Given the description of an element on the screen output the (x, y) to click on. 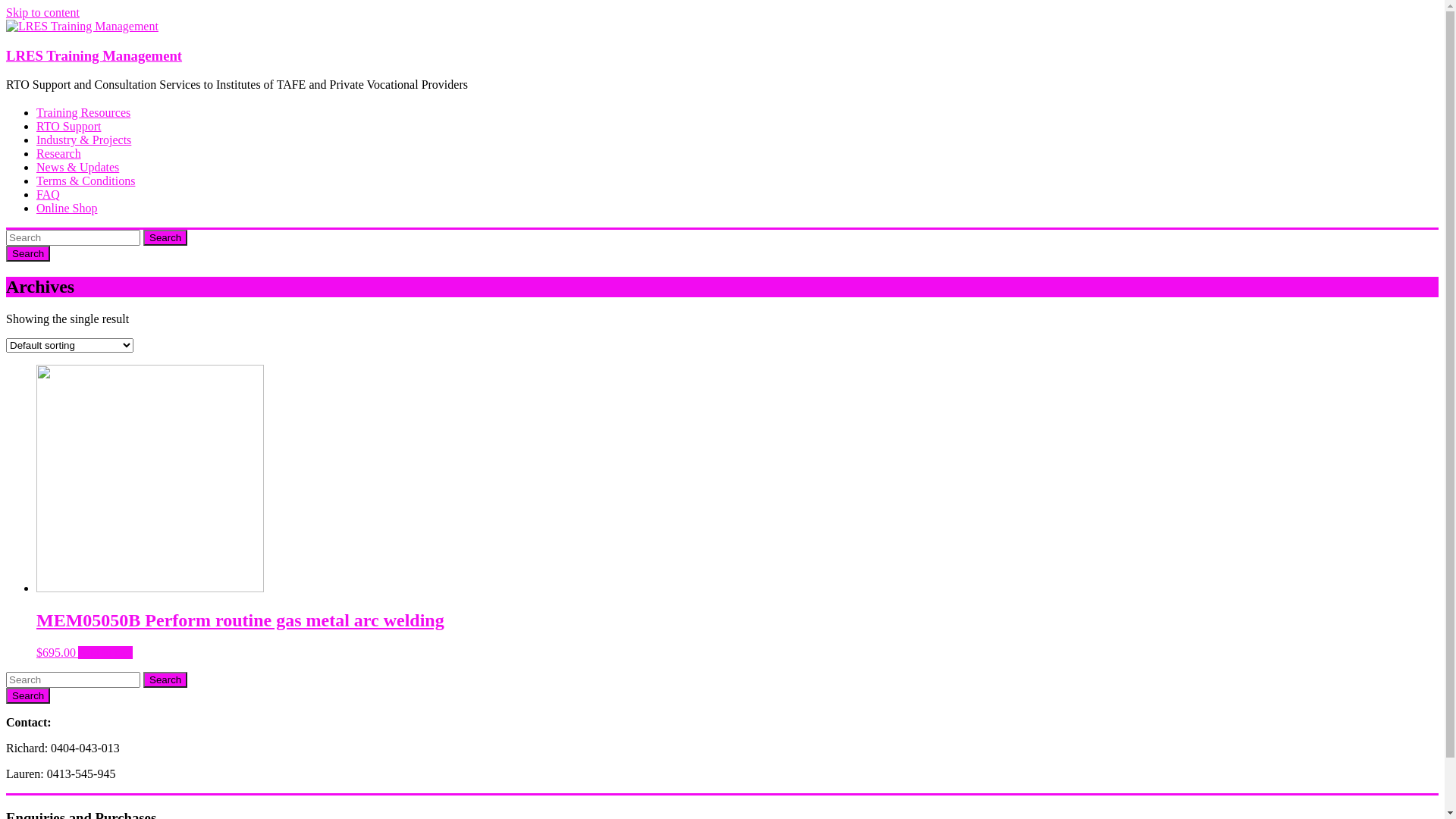
RTO Support Element type: text (68, 125)
LRES Training Management Element type: text (94, 55)
Search Element type: text (28, 695)
Terms & Conditions Element type: text (85, 180)
MEM05050B Perform routine gas metal arc welding
$695.00 Element type: text (737, 619)
News & Updates Element type: text (77, 166)
Skip to content Element type: text (42, 12)
Search Element type: text (165, 237)
Add to cart Element type: text (105, 652)
FAQ Element type: text (47, 194)
Search Element type: text (28, 253)
Search Element type: text (165, 679)
Online Shop Element type: text (66, 207)
Research Element type: text (58, 153)
Training Resources Element type: text (83, 112)
Industry & Projects Element type: text (83, 139)
